Given the description of an element on the screen output the (x, y) to click on. 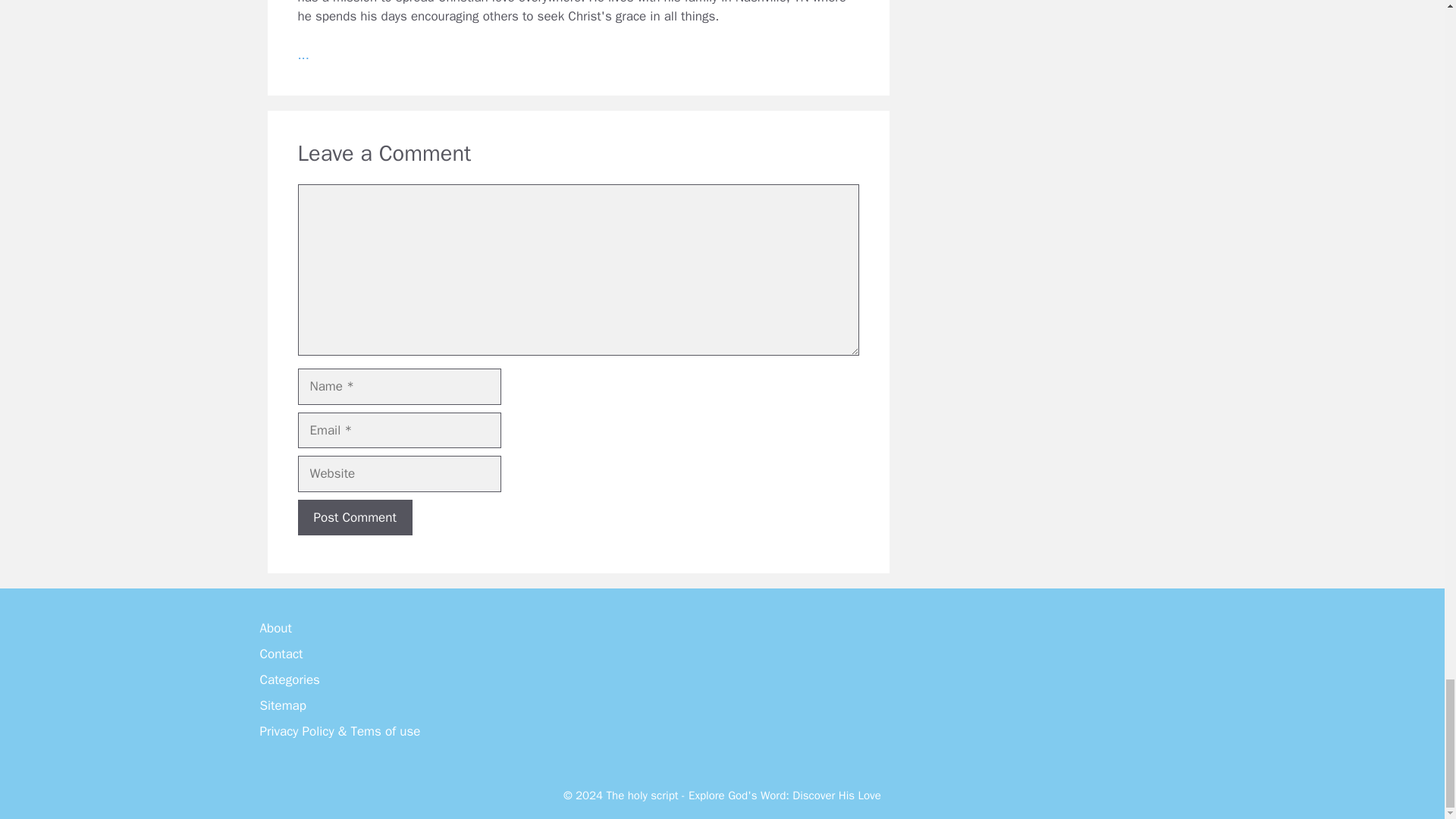
Post Comment (354, 517)
Post Comment (354, 517)
